Given the description of an element on the screen output the (x, y) to click on. 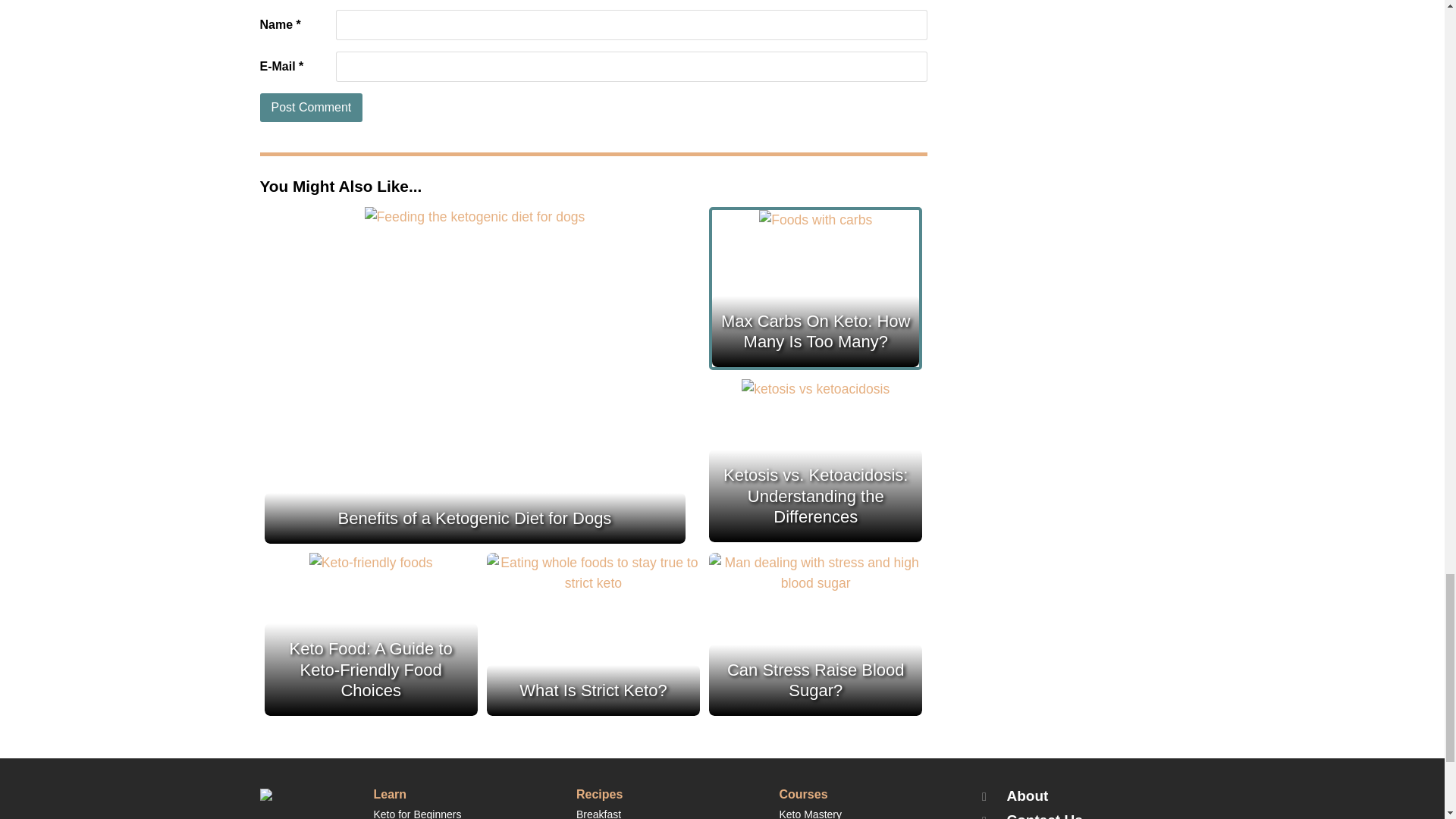
Max Carbs On Keto: How Many Is Too Many? (815, 219)
Ketosis vs. Ketoacidosis: Understanding the Differences (815, 389)
Benefits of a Ketogenic Diet for Dogs (475, 217)
Keto Food: A Guide to Keto-Friendly Food Choices (370, 562)
What Is Strict Keto? (593, 572)
Can Stress Raise Blood Sugar? (815, 572)
Post Comment (310, 107)
